Given the description of an element on the screen output the (x, y) to click on. 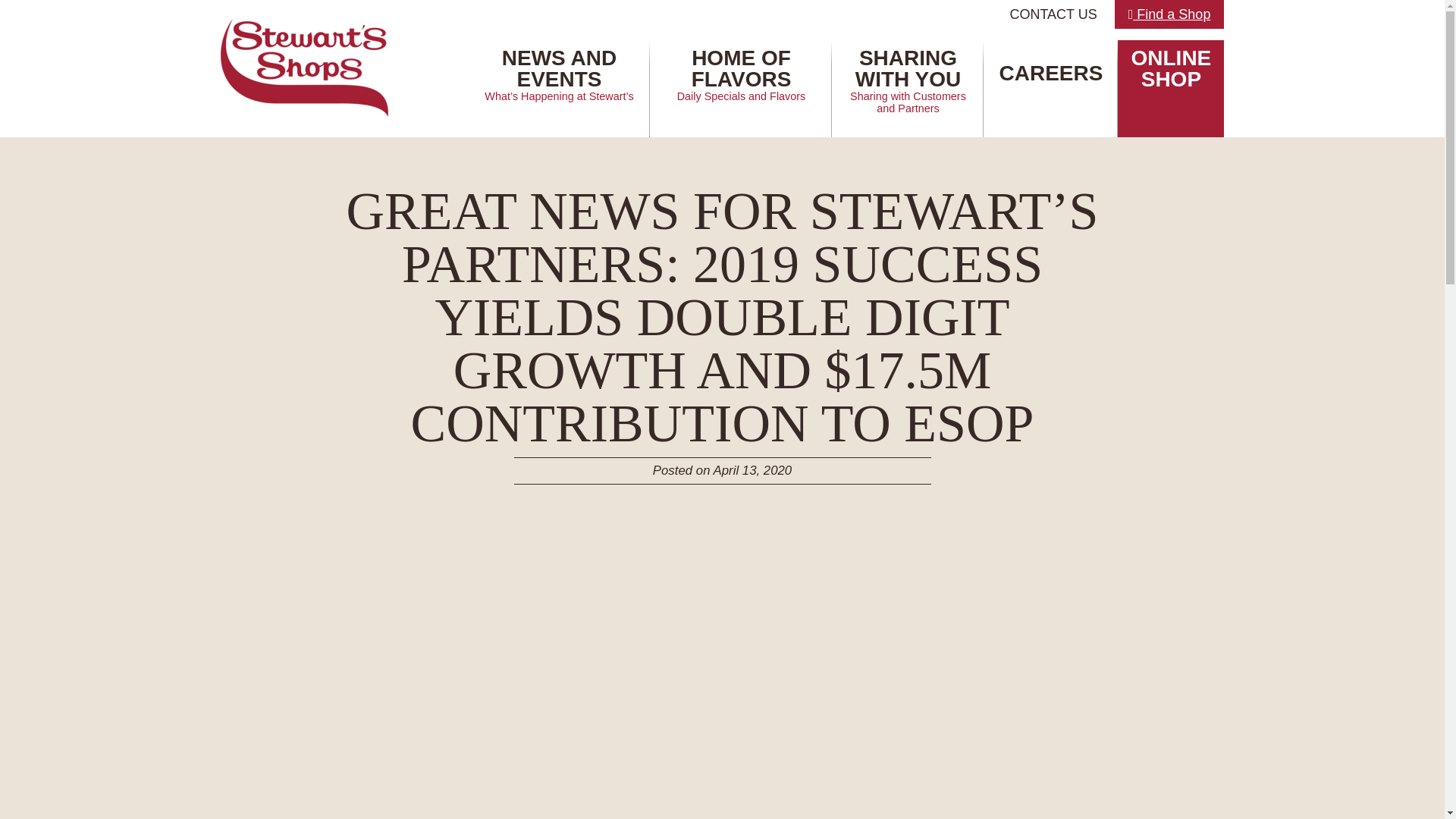
Find a Shop (740, 88)
CONTACT US (1169, 14)
